Given the description of an element on the screen output the (x, y) to click on. 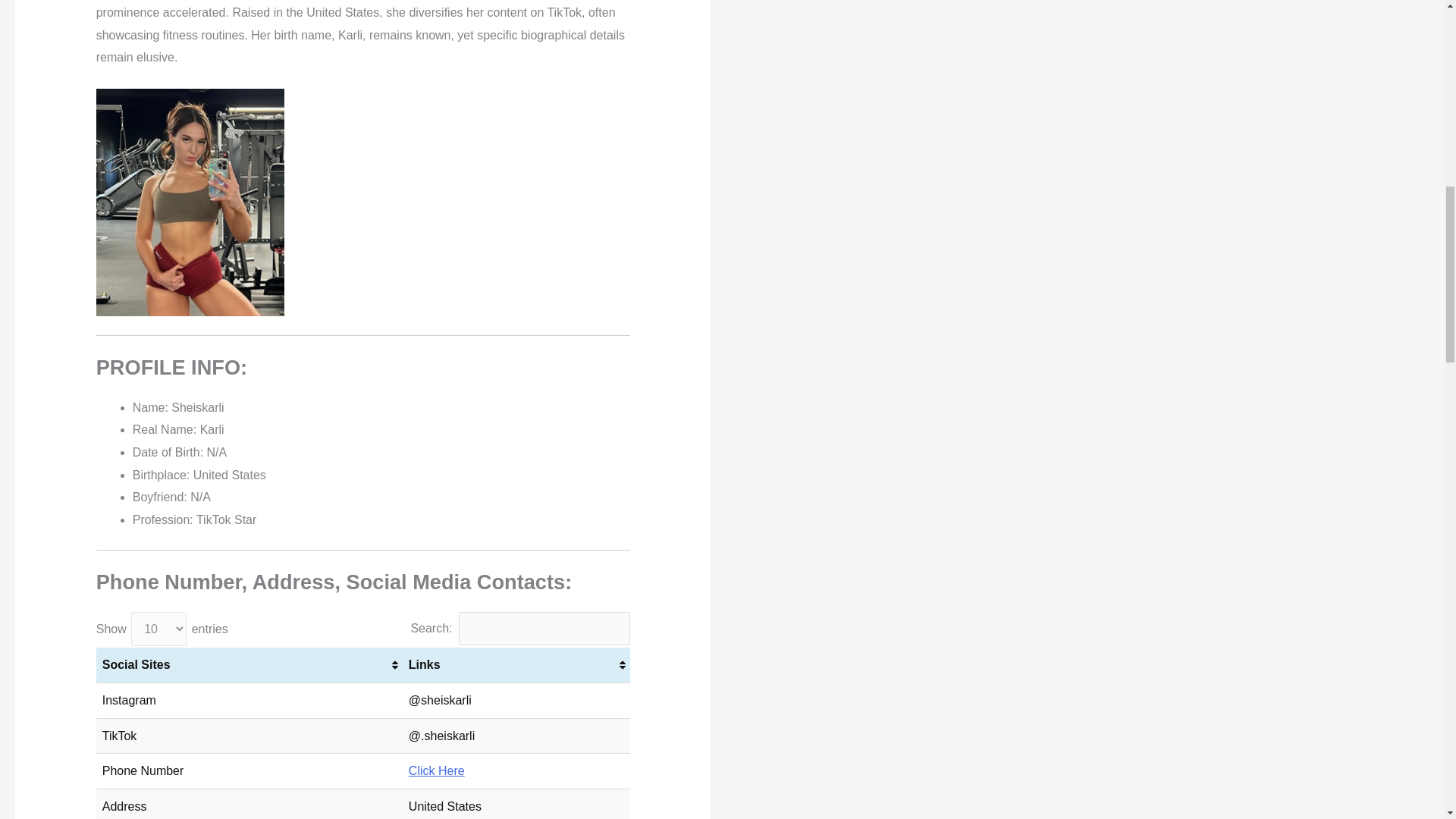
Click Here (436, 770)
